Given the description of an element on the screen output the (x, y) to click on. 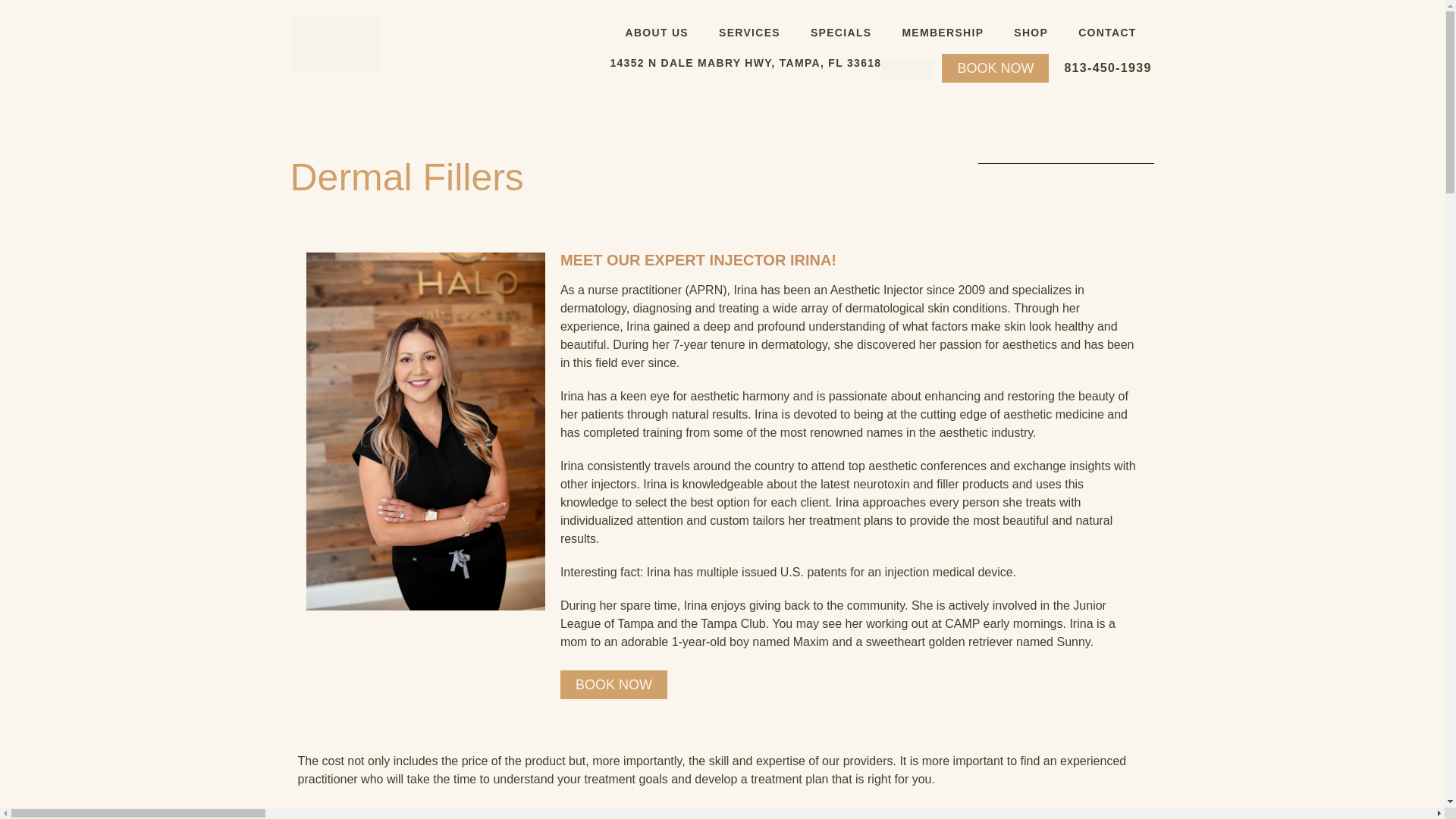
Google Review (907, 68)
ABOUT US (656, 32)
SERVICES (748, 32)
